Given the description of an element on the screen output the (x, y) to click on. 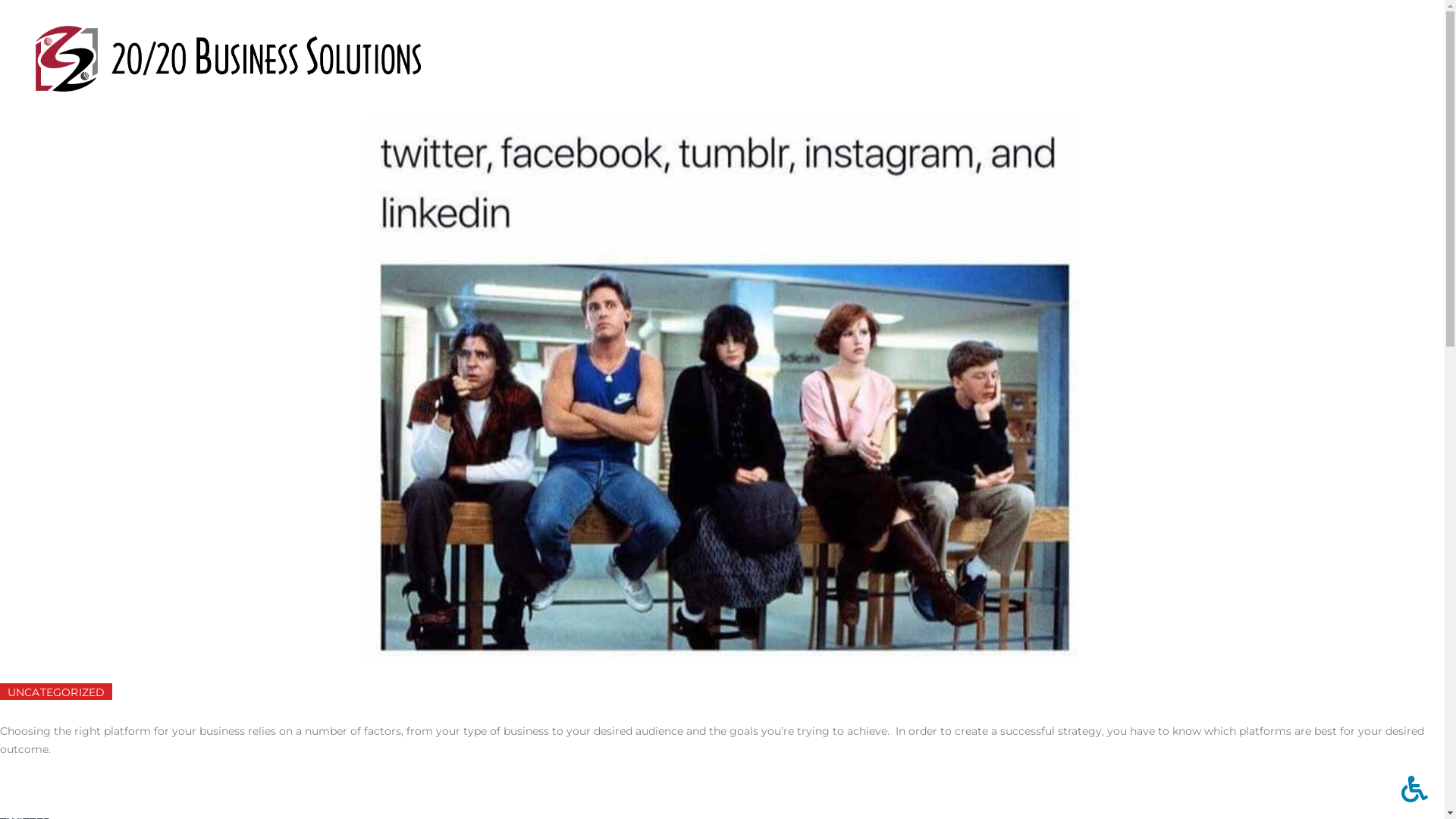
UNCATEGORIZED Element type: text (56, 691)
